Given the description of an element on the screen output the (x, y) to click on. 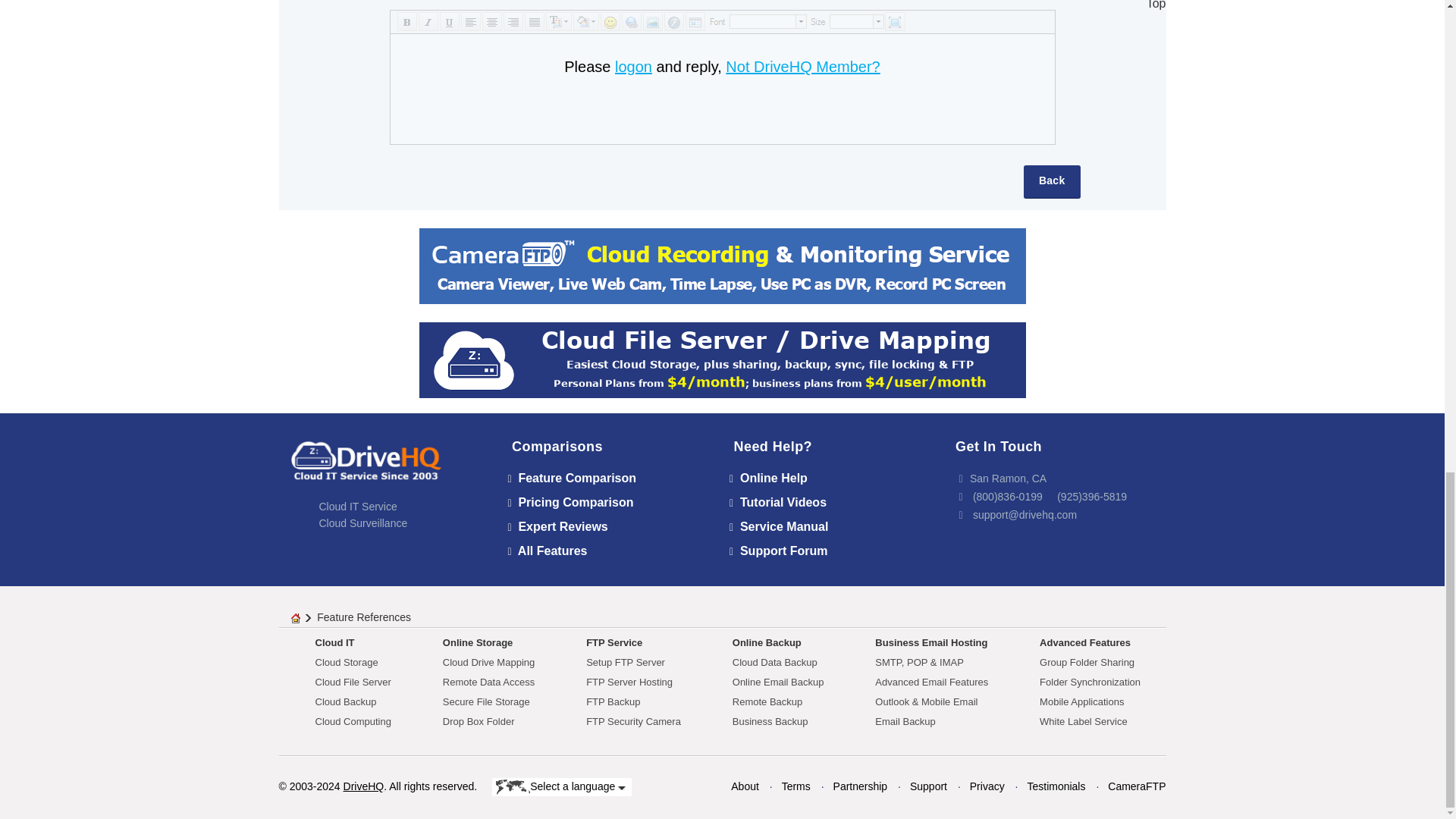
Back (1051, 182)
